Given the description of an element on the screen output the (x, y) to click on. 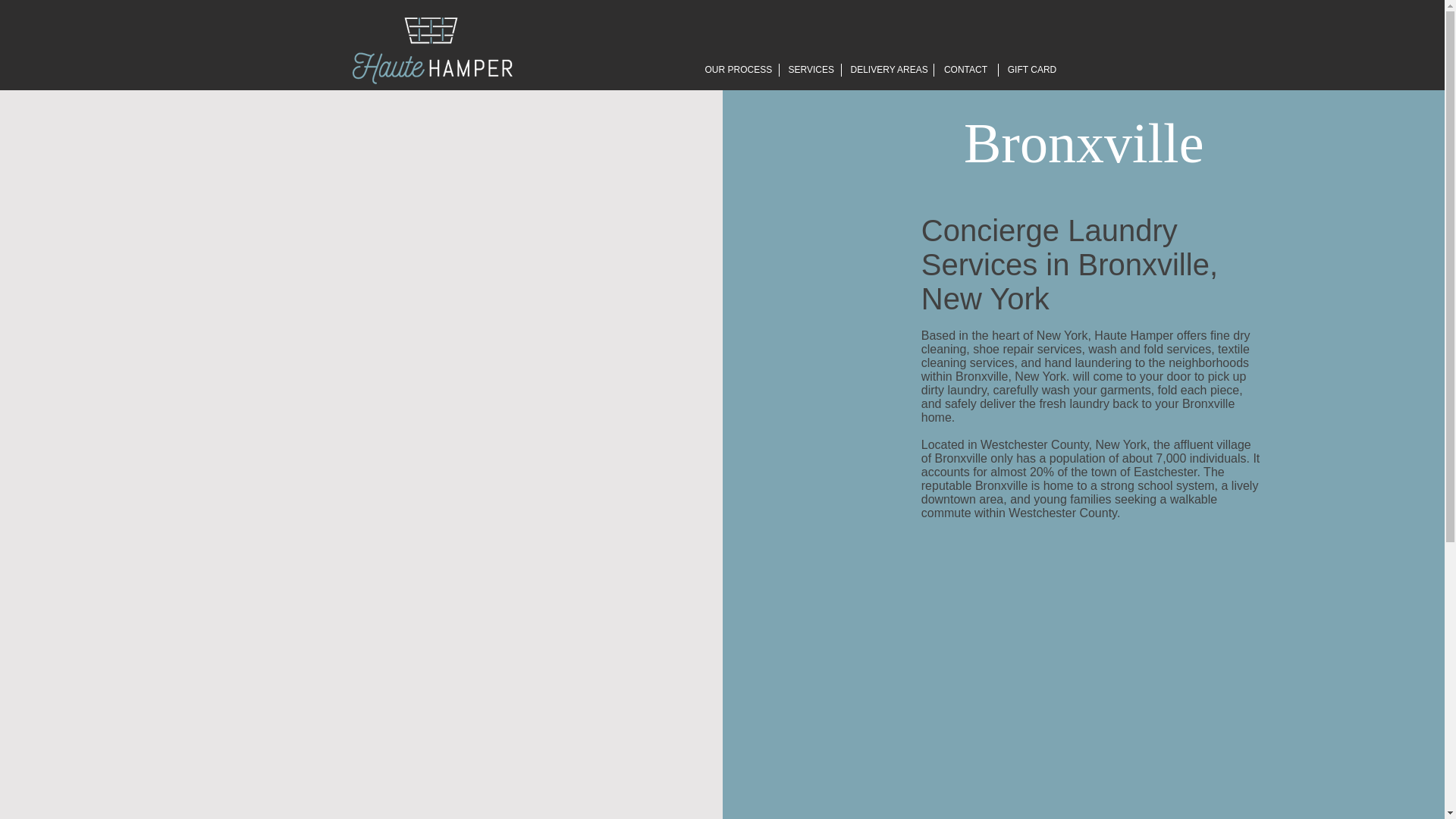
OUR PROCESS (736, 69)
SERVICES (809, 69)
Haute Hamper logo (431, 48)
GIFT CARD (1031, 69)
DELIVERY AREAS (887, 69)
CONTACT (965, 69)
